Given the description of an element on the screen output the (x, y) to click on. 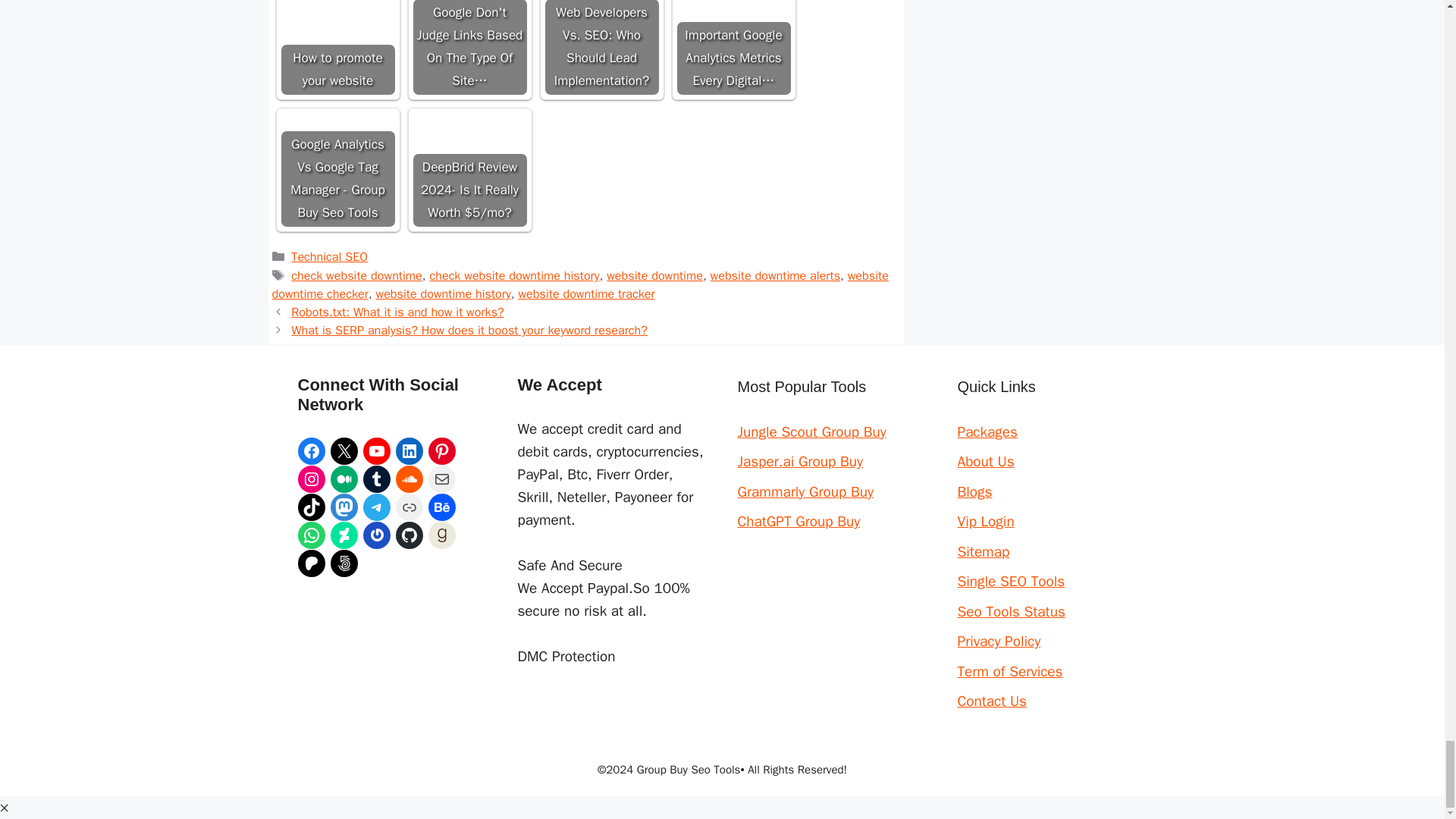
Google Analytics Vs Google Tag Manager - Group Buy Seo Tools (337, 169)
How to promote your website (337, 20)
website downtime alerts (775, 275)
How to promote your website (337, 47)
Technical SEO (329, 256)
website downtime tracker (585, 293)
website downtime checker (579, 284)
check website downtime (356, 275)
